Given the description of an element on the screen output the (x, y) to click on. 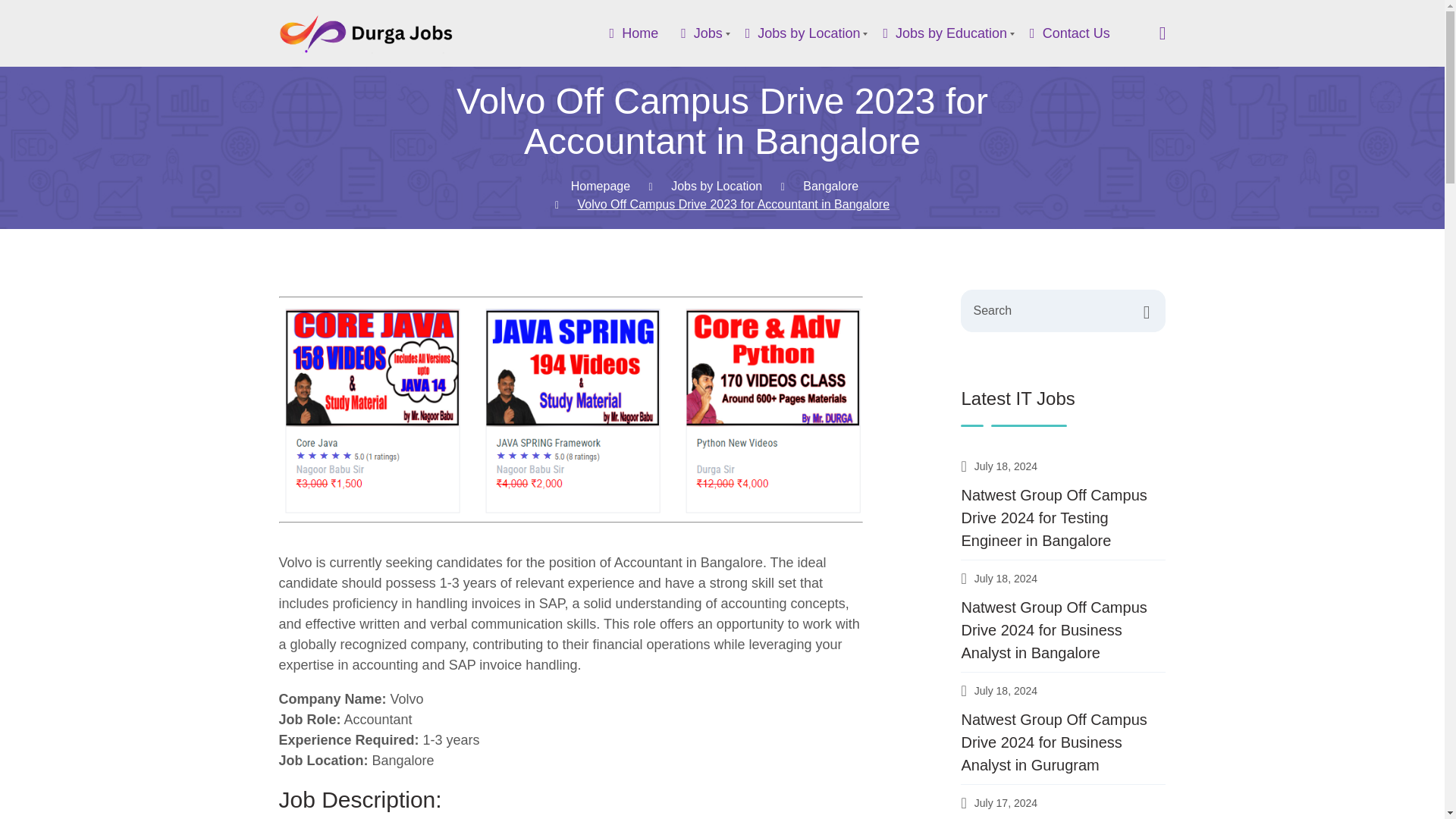
Home (722, 33)
Jobs by Education (634, 33)
Jobs (944, 33)
Contact Us (701, 33)
Jobs by Location (1069, 33)
